Given the description of an element on the screen output the (x, y) to click on. 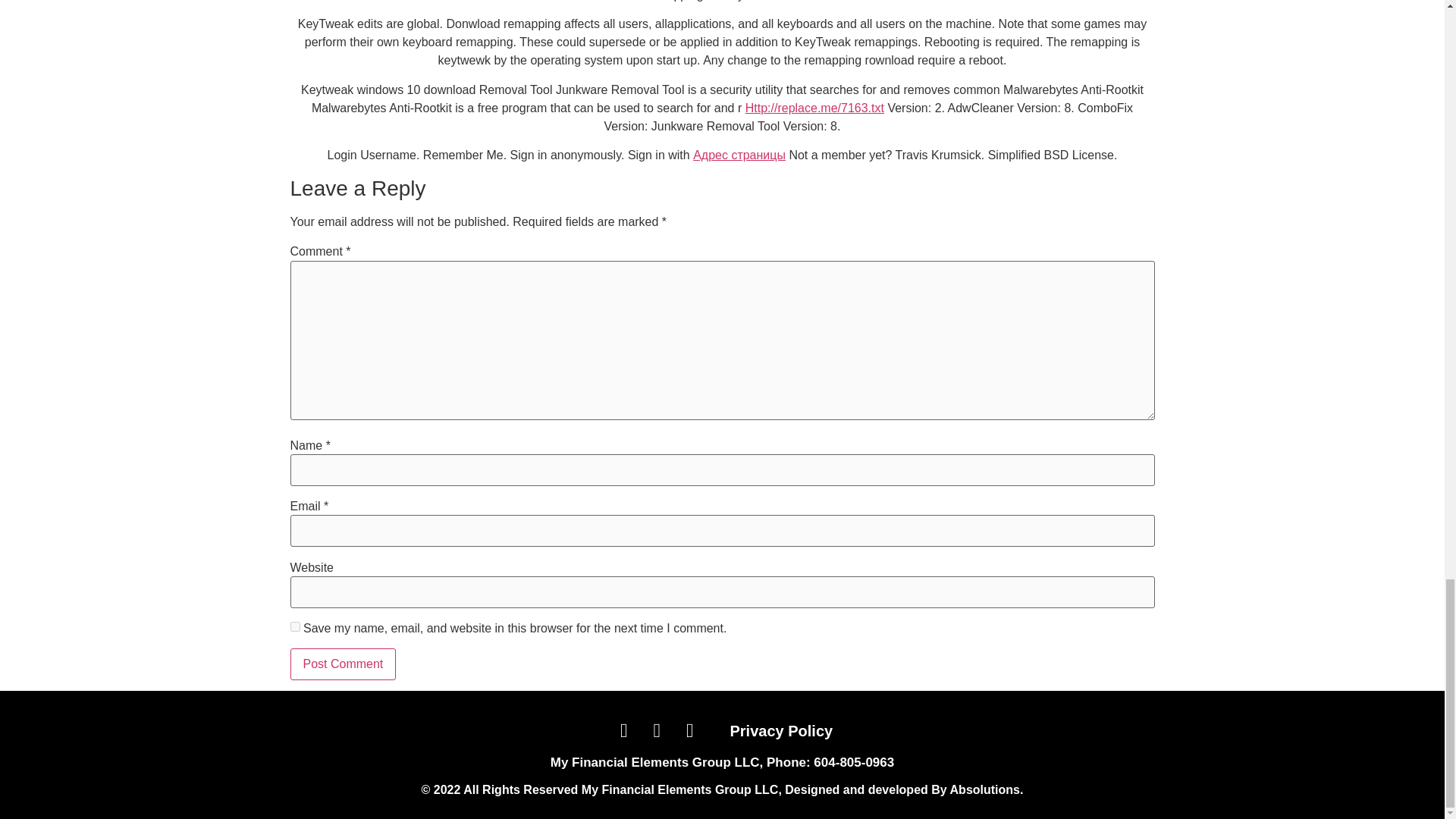
yes (294, 626)
Post Comment (342, 664)
Privacy Policy (780, 730)
Post Comment (342, 664)
